Given the description of an element on the screen output the (x, y) to click on. 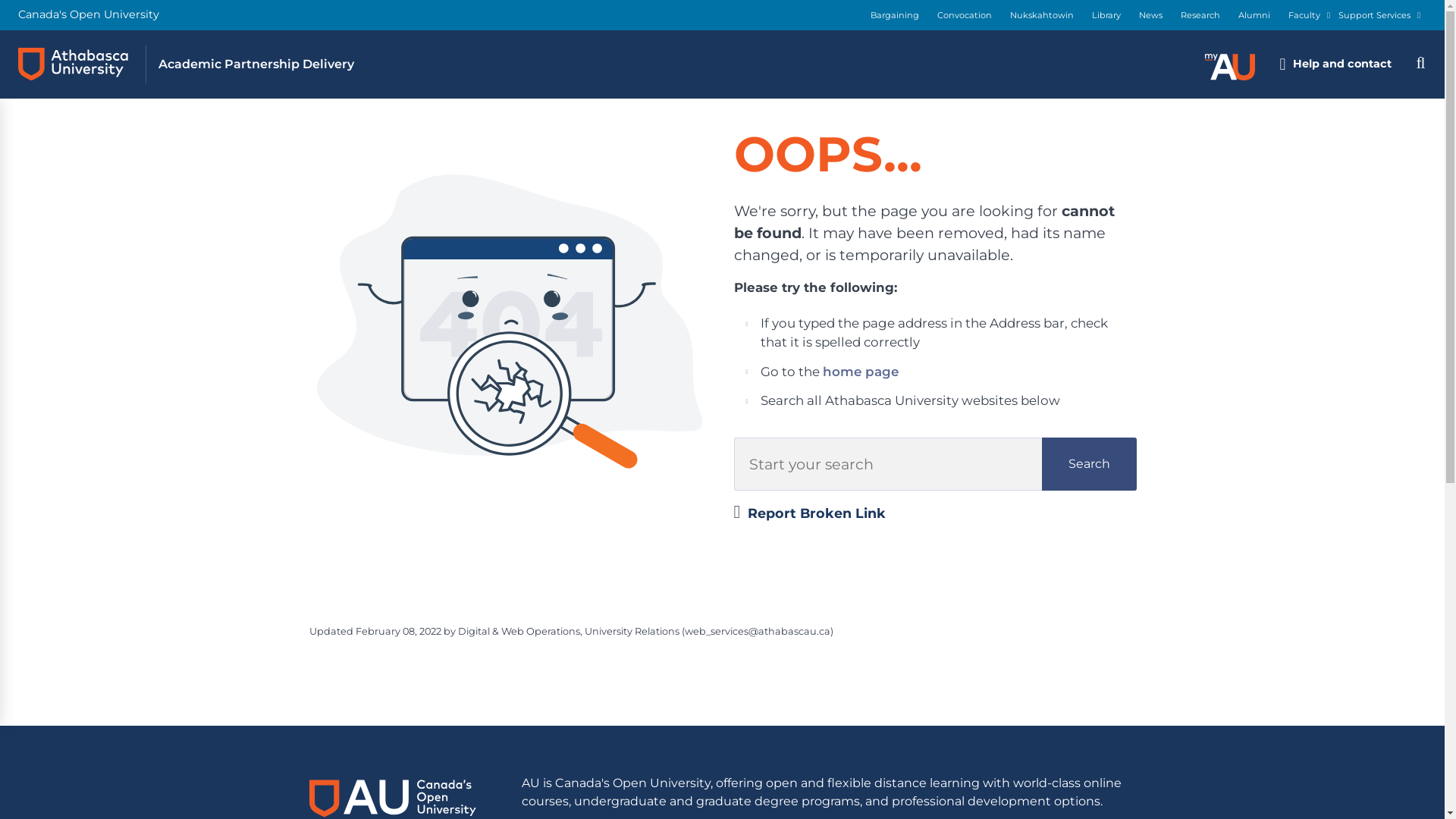
Convocation Element type: text (964, 15)
News Element type: text (1150, 15)
Library Element type: text (1106, 15)
Research Element type: text (1200, 15)
home page Element type: text (860, 371)
Search the Athabasca University Website Element type: hover (1420, 64)
Alumni Element type: text (1254, 15)
Faculty Element type: text (1304, 15)
Help and contact Element type: text (1335, 64)
Nukskahtowin Element type: text (1041, 15)
Bargaining Element type: text (894, 15)
Support Services Element type: text (1374, 15)
Athabasca University logo Element type: text (73, 64)
Search Element type: text (1088, 463)
